Given the description of an element on the screen output the (x, y) to click on. 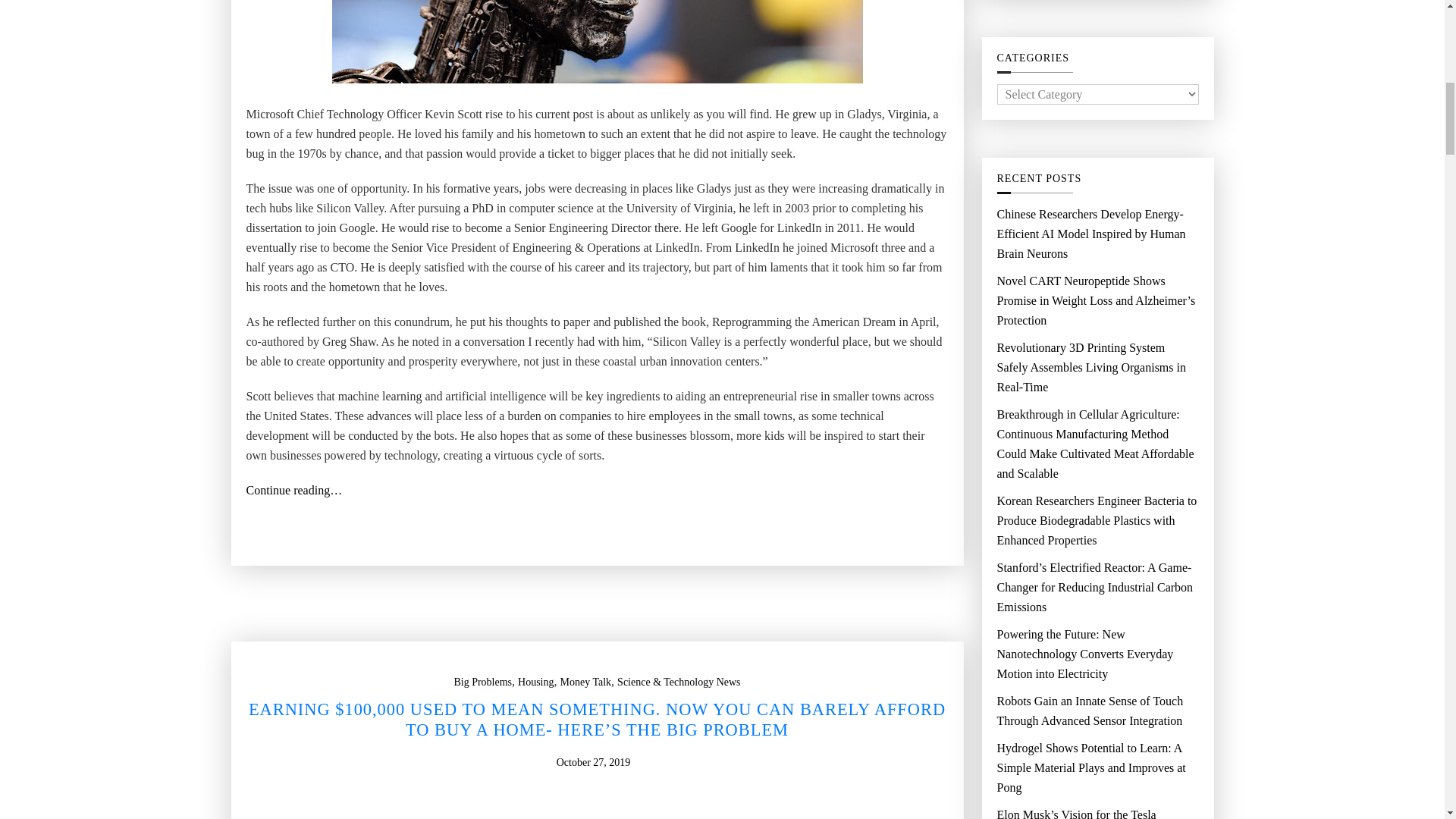
October 27, 2019 (593, 762)
Big Problems (482, 682)
Housing (535, 682)
Money Talk (585, 682)
